Given the description of an element on the screen output the (x, y) to click on. 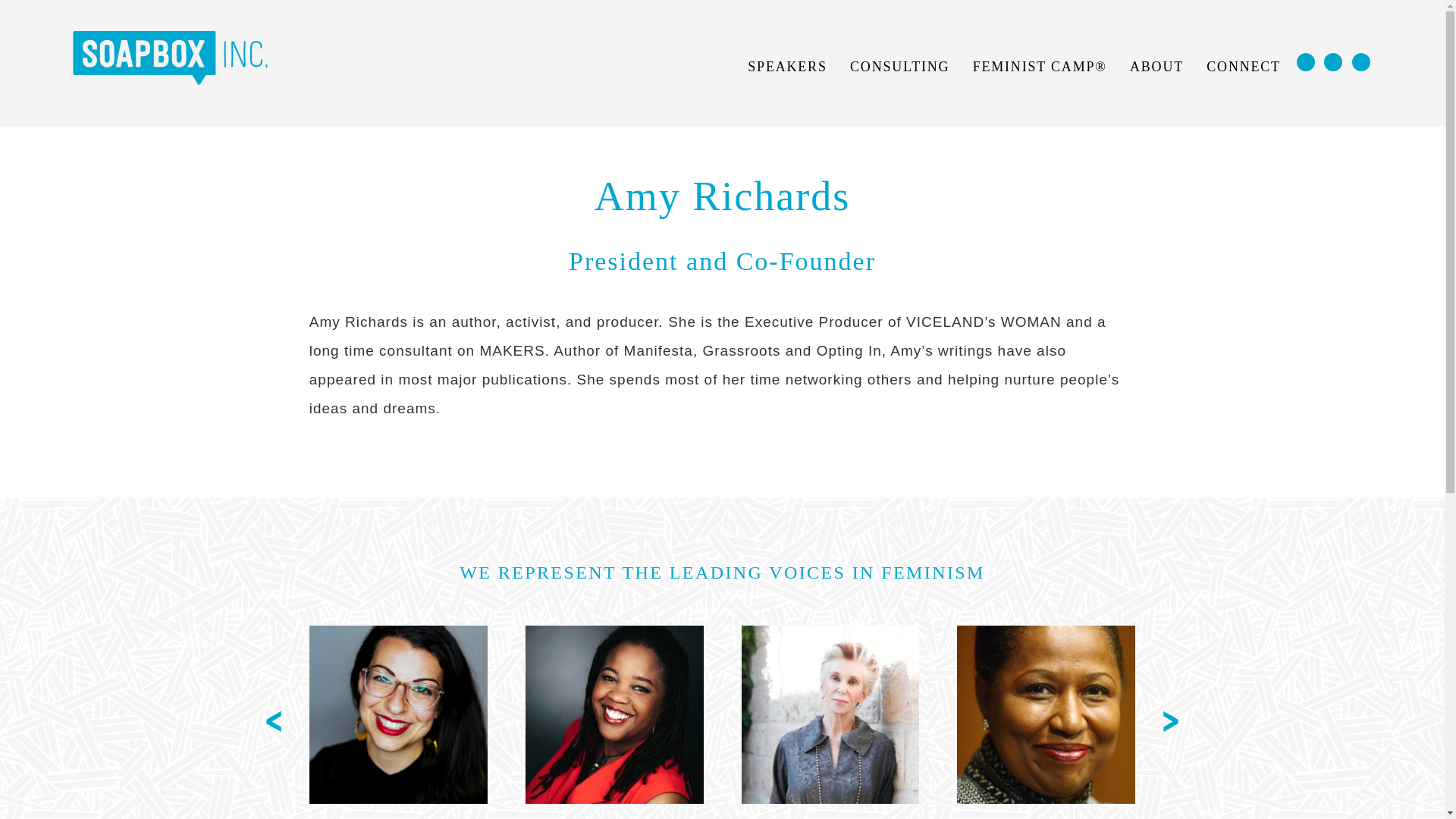
ABOUT (1156, 66)
SPEAKERS (787, 66)
Soapbox Inc. (170, 56)
Catharine A. MacKinnon (830, 714)
Farai Chideya (614, 714)
Anita Sarkeesian (397, 714)
CONNECT (1244, 66)
CONSULTING (899, 66)
Carol Moseley Braun (1045, 714)
